Given the description of an element on the screen output the (x, y) to click on. 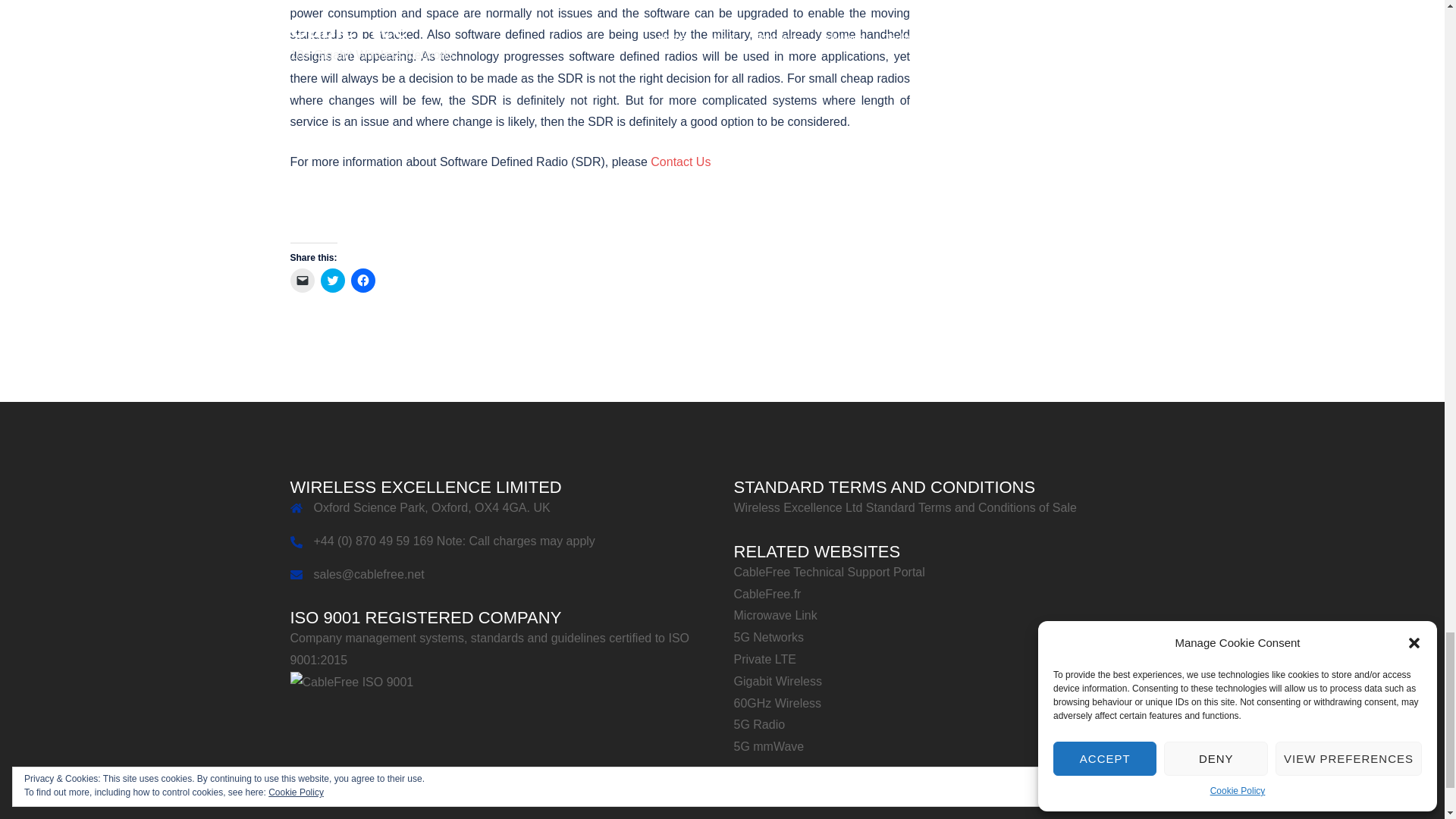
Click to share on Twitter (331, 280)
Click to share on Facebook (362, 280)
Click to email a link to a friend (301, 280)
Contact (680, 161)
